Given the description of an element on the screen output the (x, y) to click on. 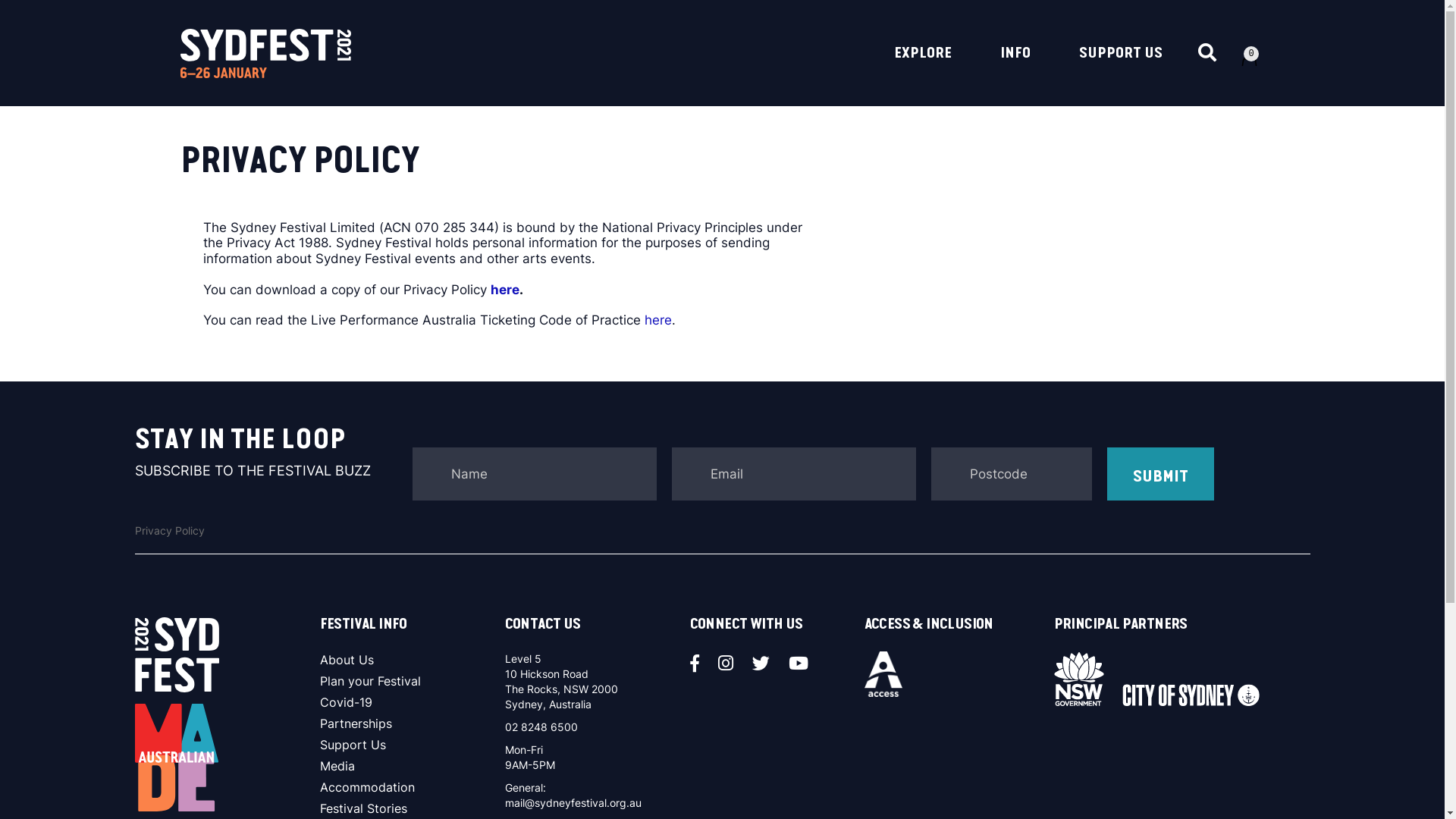
EXPLORE Element type: text (922, 68)
mail@sydneyfestival.org.au Element type: text (573, 802)
here Element type: text (503, 289)
here Element type: text (657, 319)
Plan your Festival Element type: text (412, 680)
Accommodation Element type: text (412, 786)
Festival Stories Element type: text (412, 808)
Partnerships Element type: text (412, 723)
Twitter Element type: hover (768, 663)
Facebook Element type: hover (701, 663)
Support Us Element type: text (412, 744)
YouTube Element type: hover (805, 663)
Covid-19 Element type: text (412, 701)
INFO Element type: text (1014, 68)
Media Element type: text (412, 765)
Instagram Element type: hover (731, 663)
About Us Element type: text (412, 659)
SUPPORT US Element type: text (1120, 68)
Privacy Policy Element type: text (169, 530)
SUBMIT Element type: text (1160, 473)
Access & Inclusion Element type: hover (883, 672)
